Given the description of an element on the screen output the (x, y) to click on. 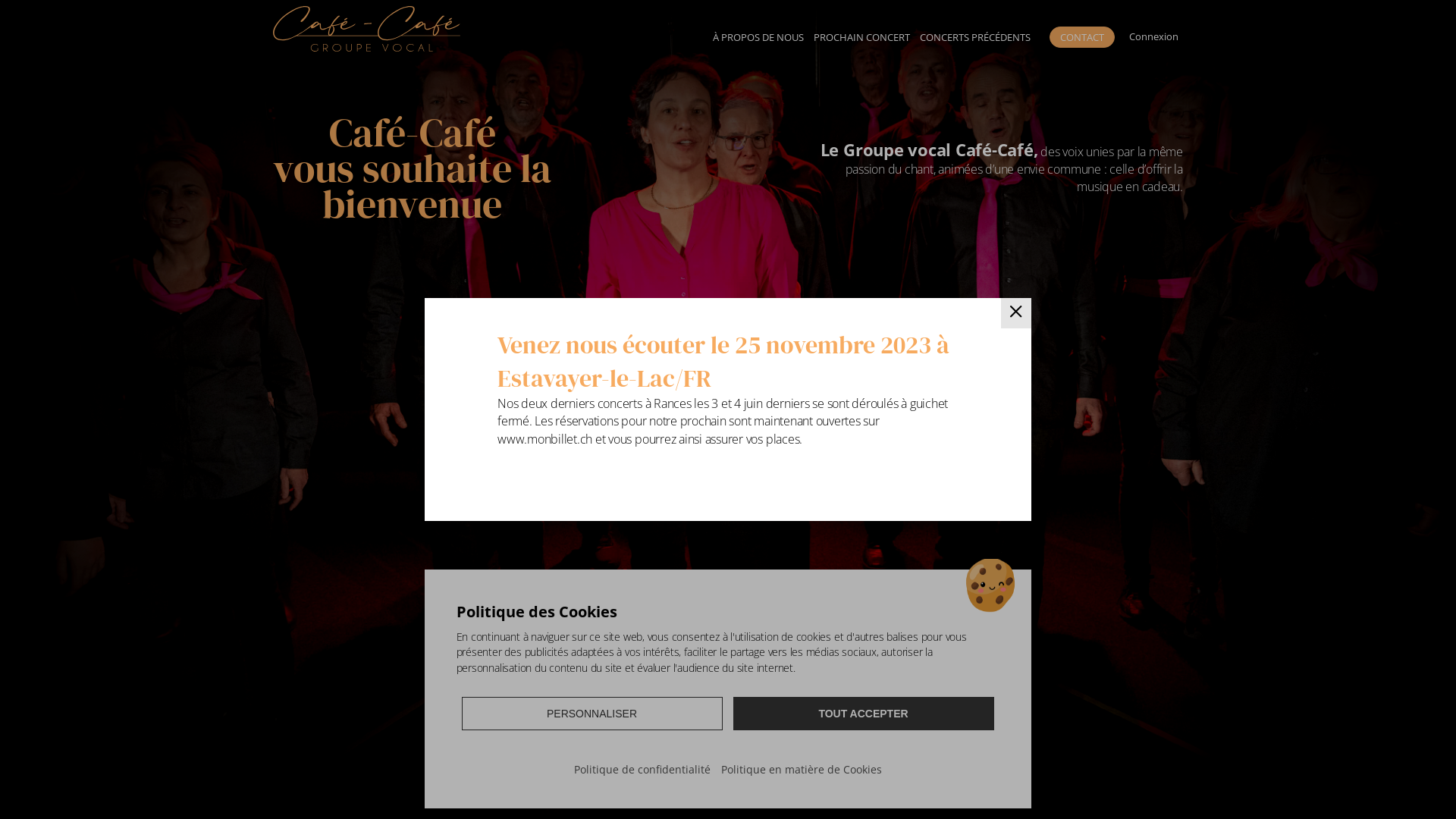
CONTACT Element type: text (1081, 37)
PROCHAIN CONCERT Element type: text (862, 36)
Connexion Element type: text (1153, 36)
PERSONNALISER Element type: text (591, 713)
TOUT ACCEPTER Element type: text (863, 713)
